Given the description of an element on the screen output the (x, y) to click on. 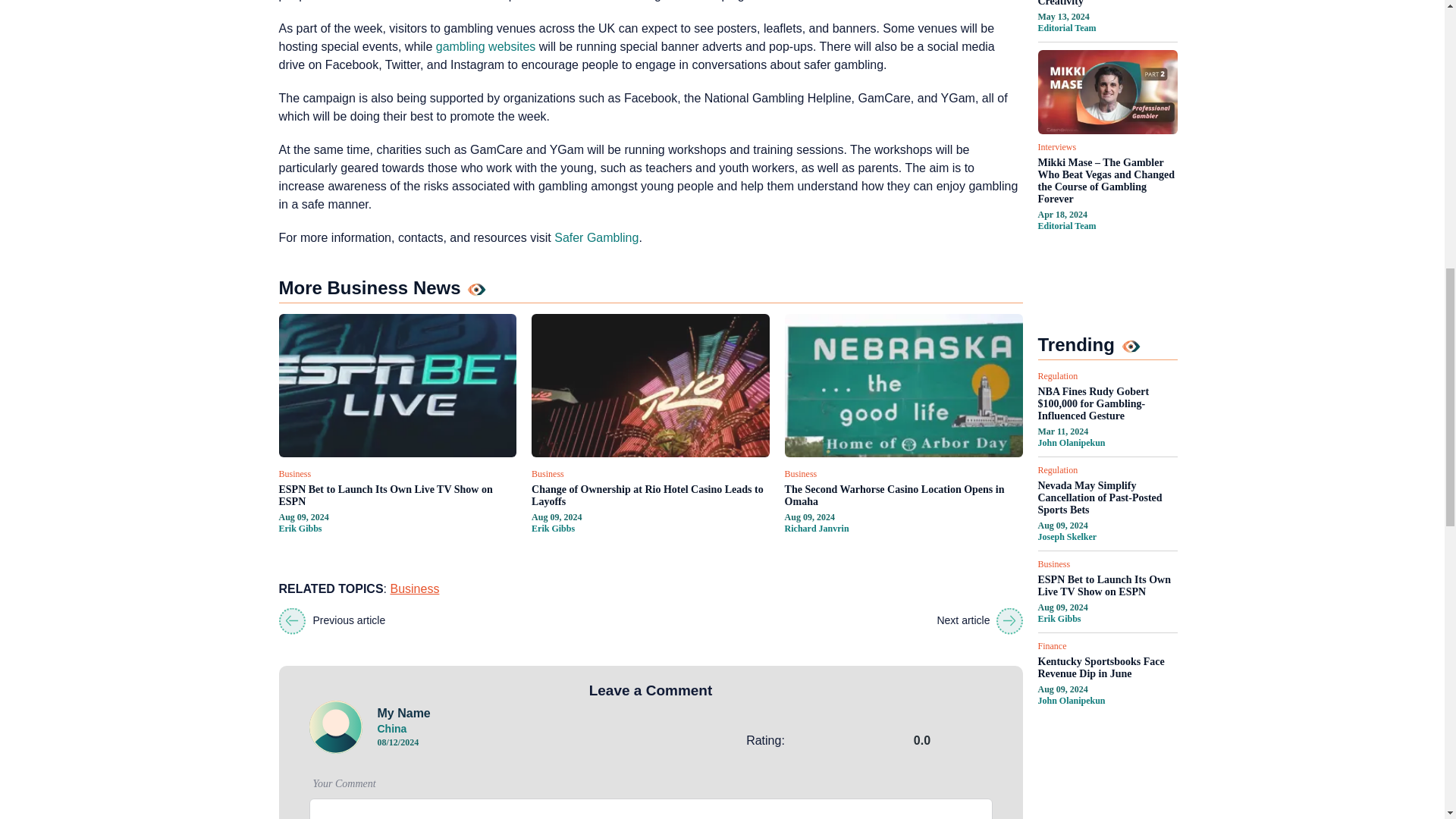
ESPN Bet to Launch Its Own Live TV Show on ESPN (397, 495)
Safer Gambling (596, 237)
Erik Gibbs (300, 528)
gambling websites (485, 46)
